Given the description of an element on the screen output the (x, y) to click on. 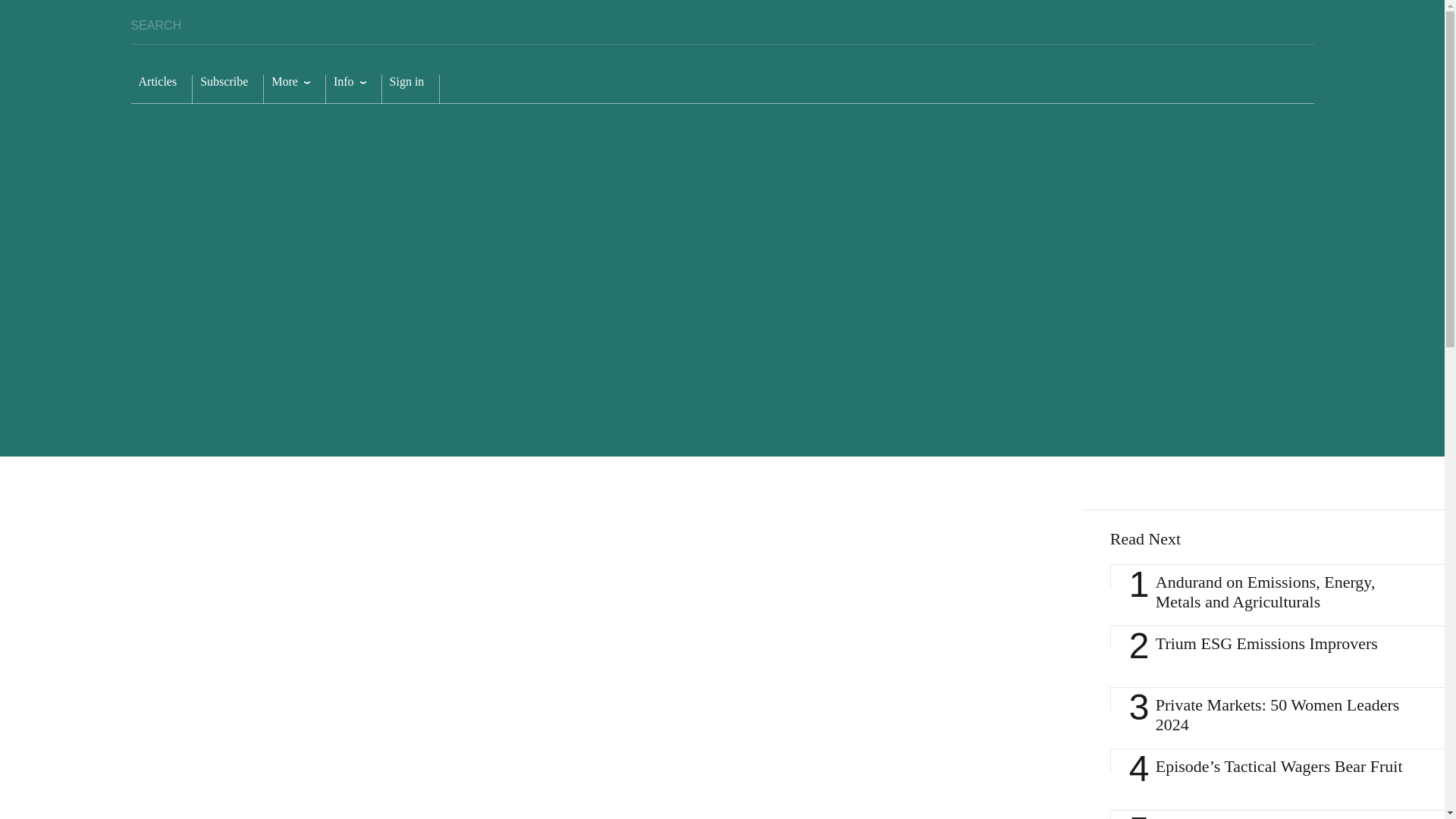
Subscribe (227, 89)
Info (353, 89)
More (293, 89)
The Hedge Fund Journal (1184, 76)
Sign in (410, 89)
Sign in (410, 89)
Articles (161, 89)
